Given the description of an element on the screen output the (x, y) to click on. 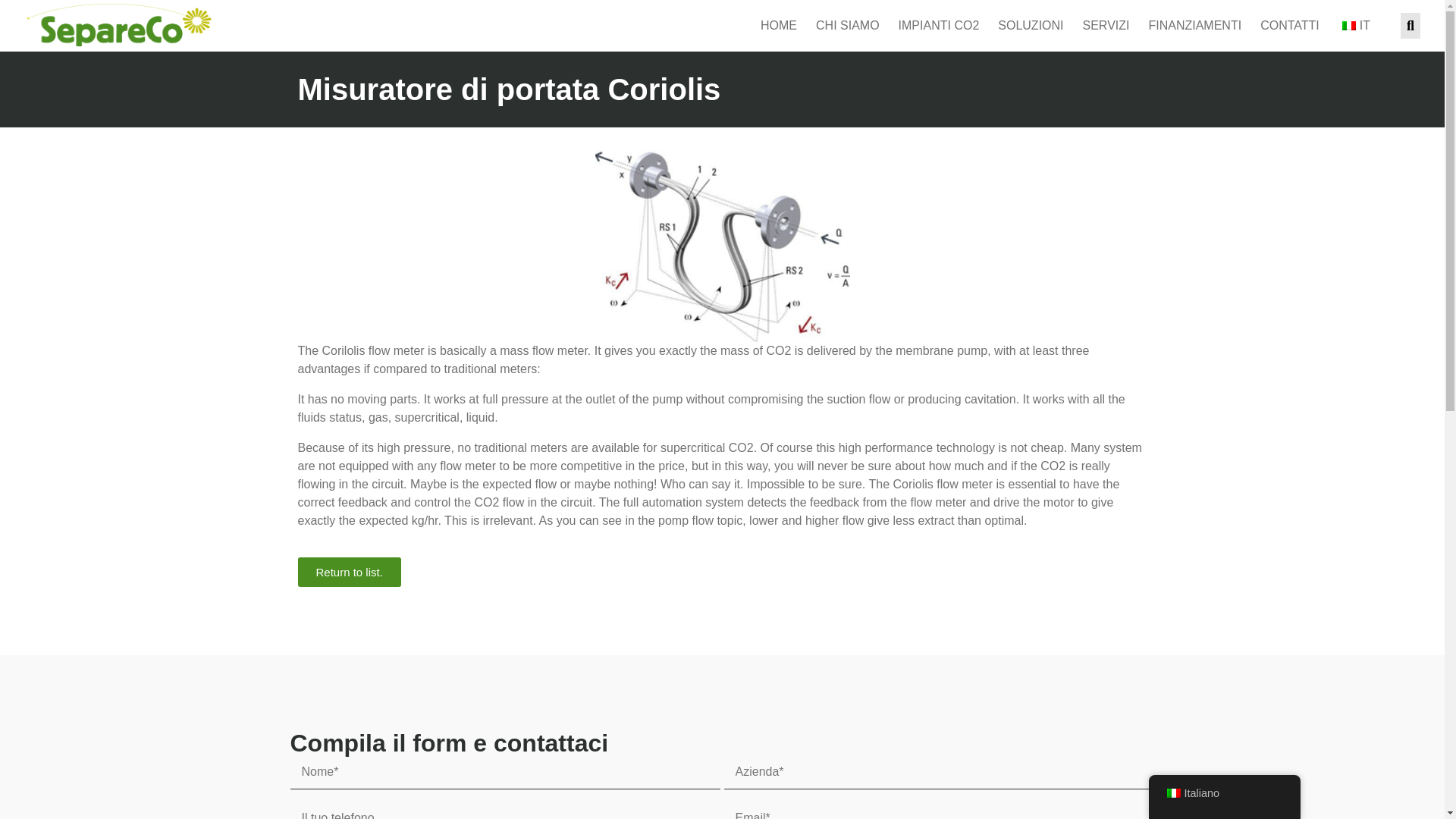
IMPIANTI CO2 (938, 25)
CHI SIAMO (847, 25)
SERVIZI (1106, 25)
HOME (778, 25)
Italiano (1348, 25)
SOLUZIONI (1029, 25)
